Given the description of an element on the screen output the (x, y) to click on. 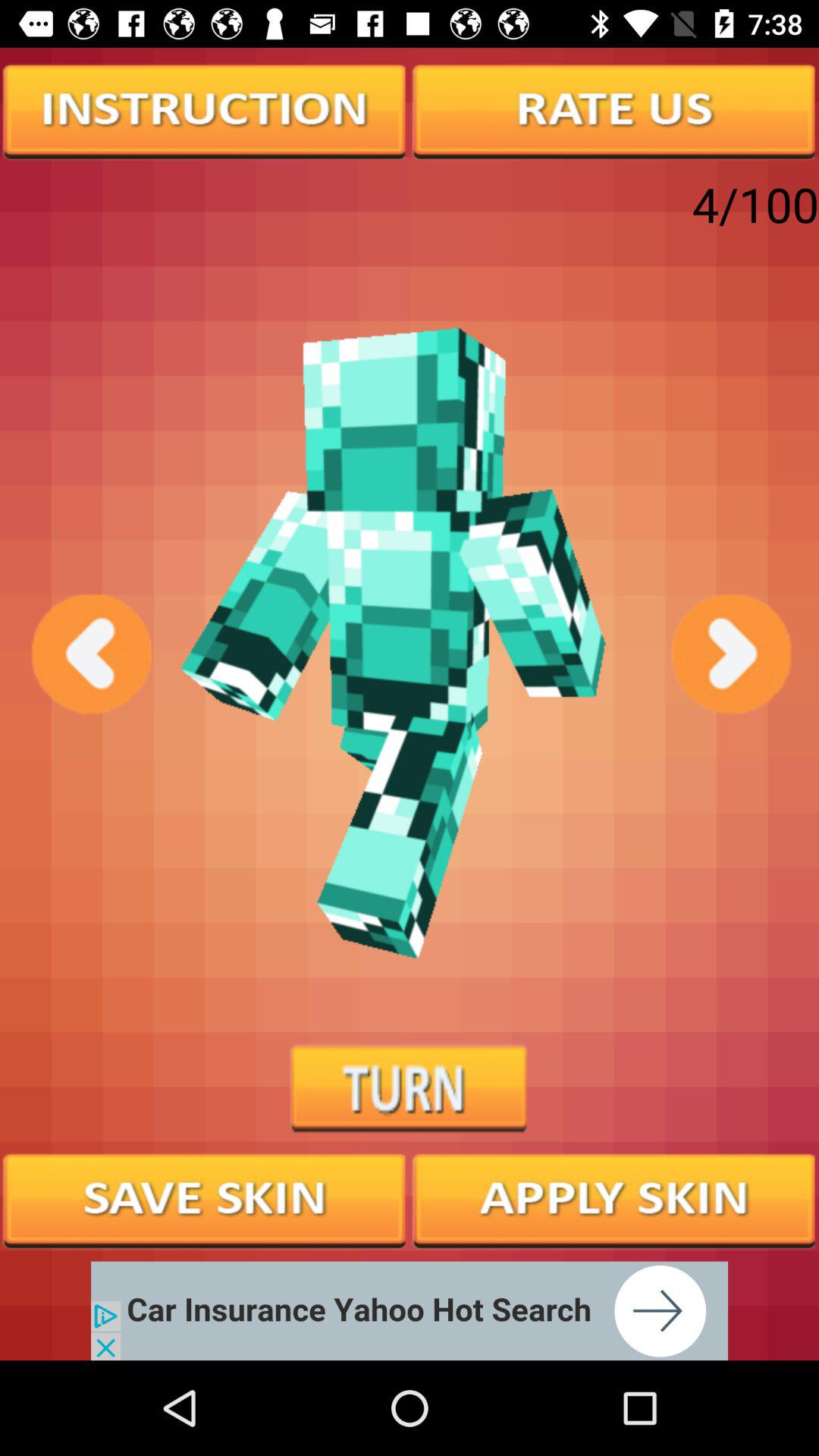
back (89, 654)
